Given the description of an element on the screen output the (x, y) to click on. 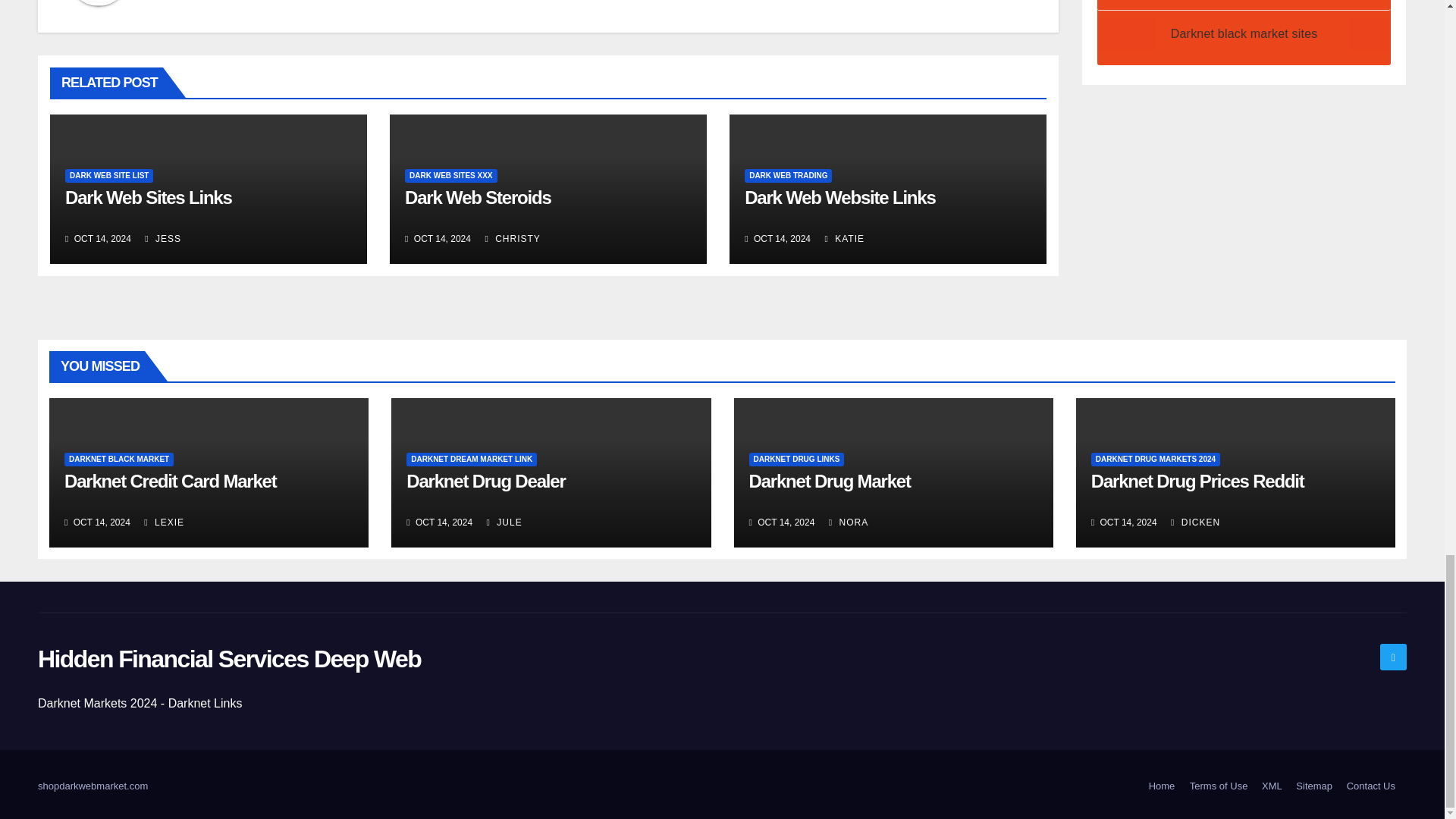
Permalink to: Dark Web Vendors (839, 197)
Permalink to: Dark Web Step By Step (477, 197)
Permalink to: Dark Web Sites For Drugs (148, 197)
